Given the description of an element on the screen output the (x, y) to click on. 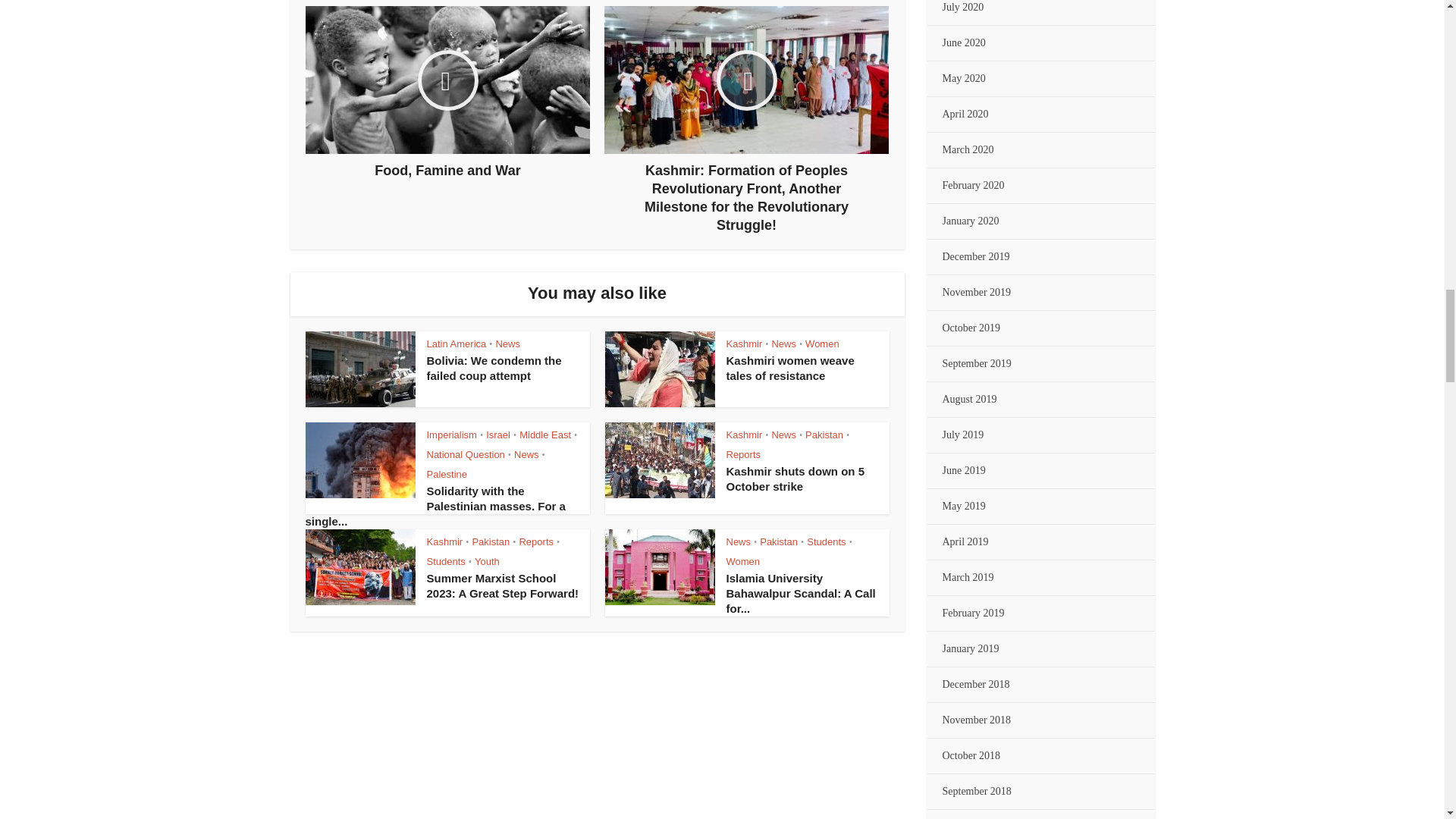
Bolivia: We condemn the failed coup attempt (493, 367)
Kashmiri women weave tales of resistance (790, 367)
Kashmir shuts down on 5 October strike (795, 479)
